Given the description of an element on the screen output the (x, y) to click on. 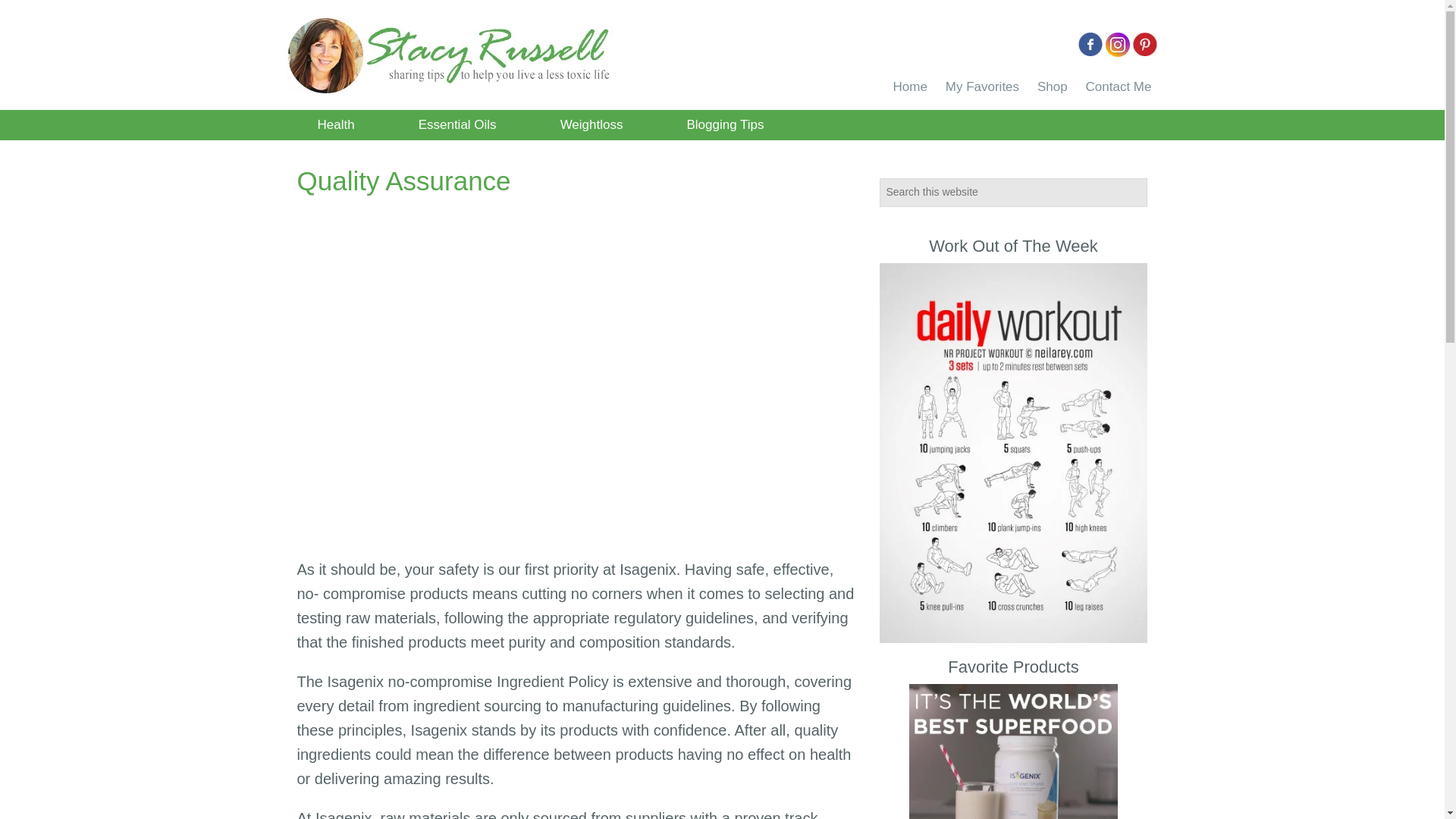
Shop (1052, 86)
Health (335, 124)
Blogging Tips (723, 124)
Home (909, 86)
Contact Me (1118, 86)
My Favorites (981, 86)
Weightloss (591, 124)
Essential Oils (457, 124)
